Given the description of an element on the screen output the (x, y) to click on. 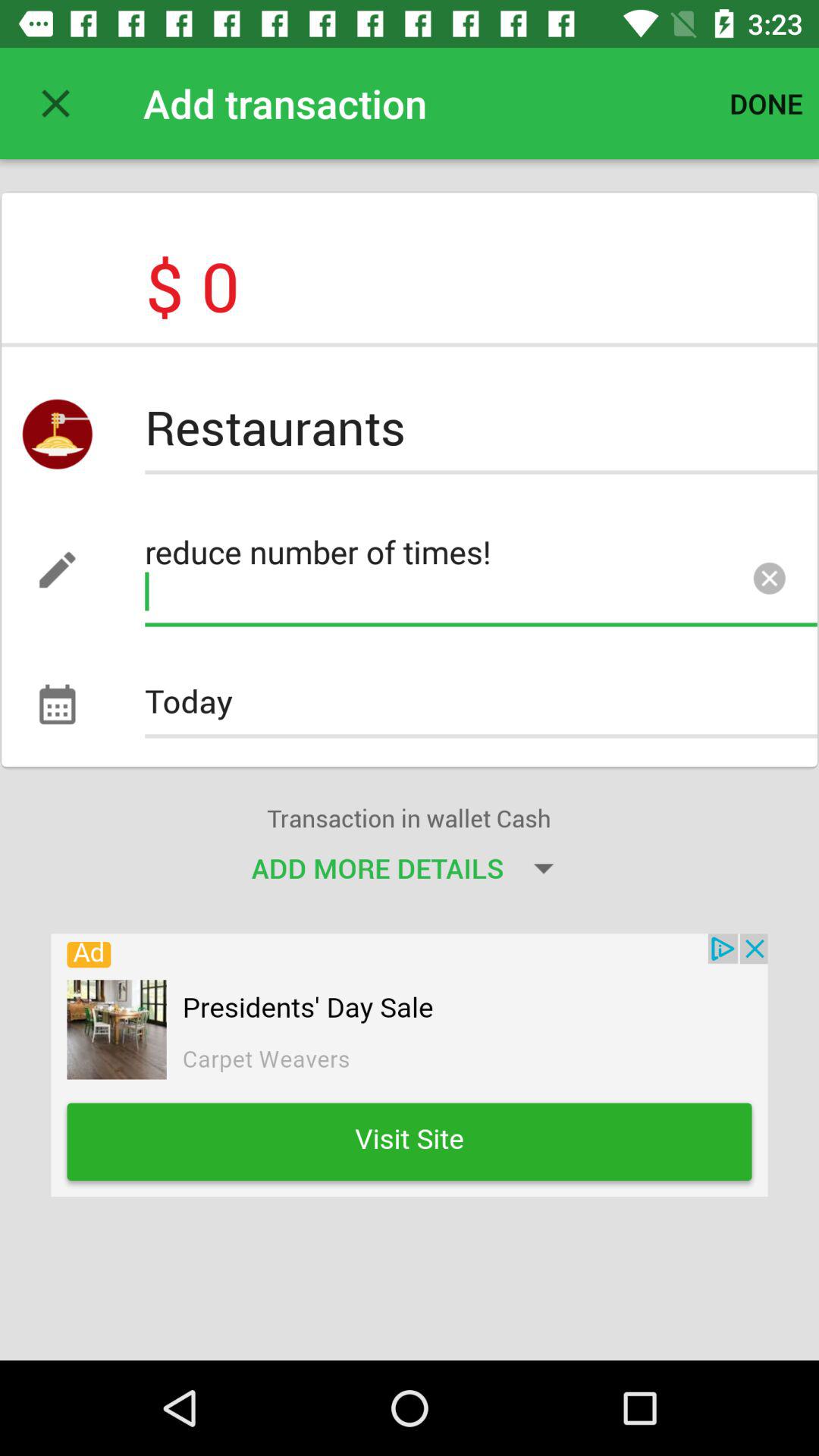
banner advertisement (409, 1064)
